Given the description of an element on the screen output the (x, y) to click on. 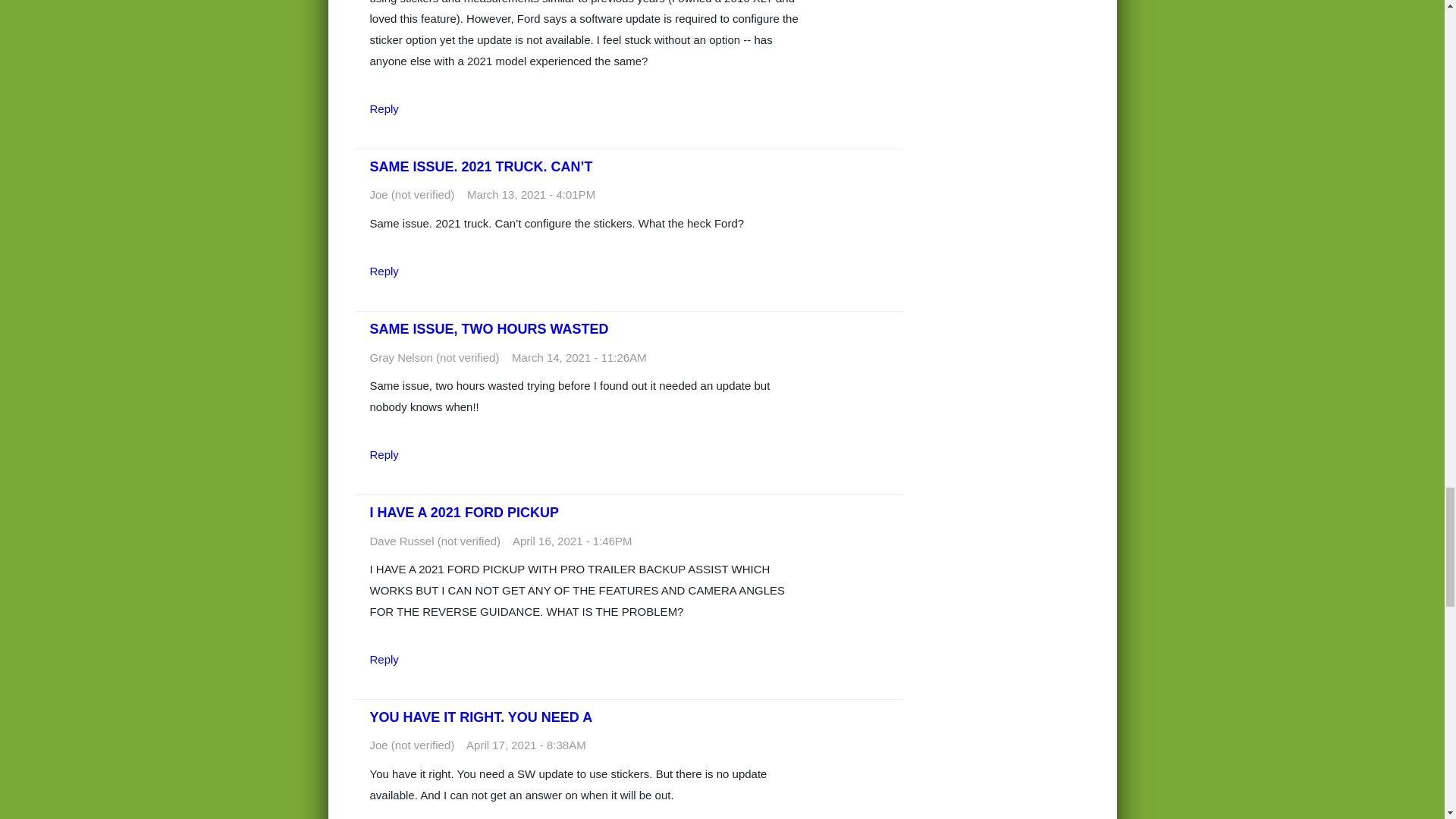
Reply (383, 108)
